Given the description of an element on the screen output the (x, y) to click on. 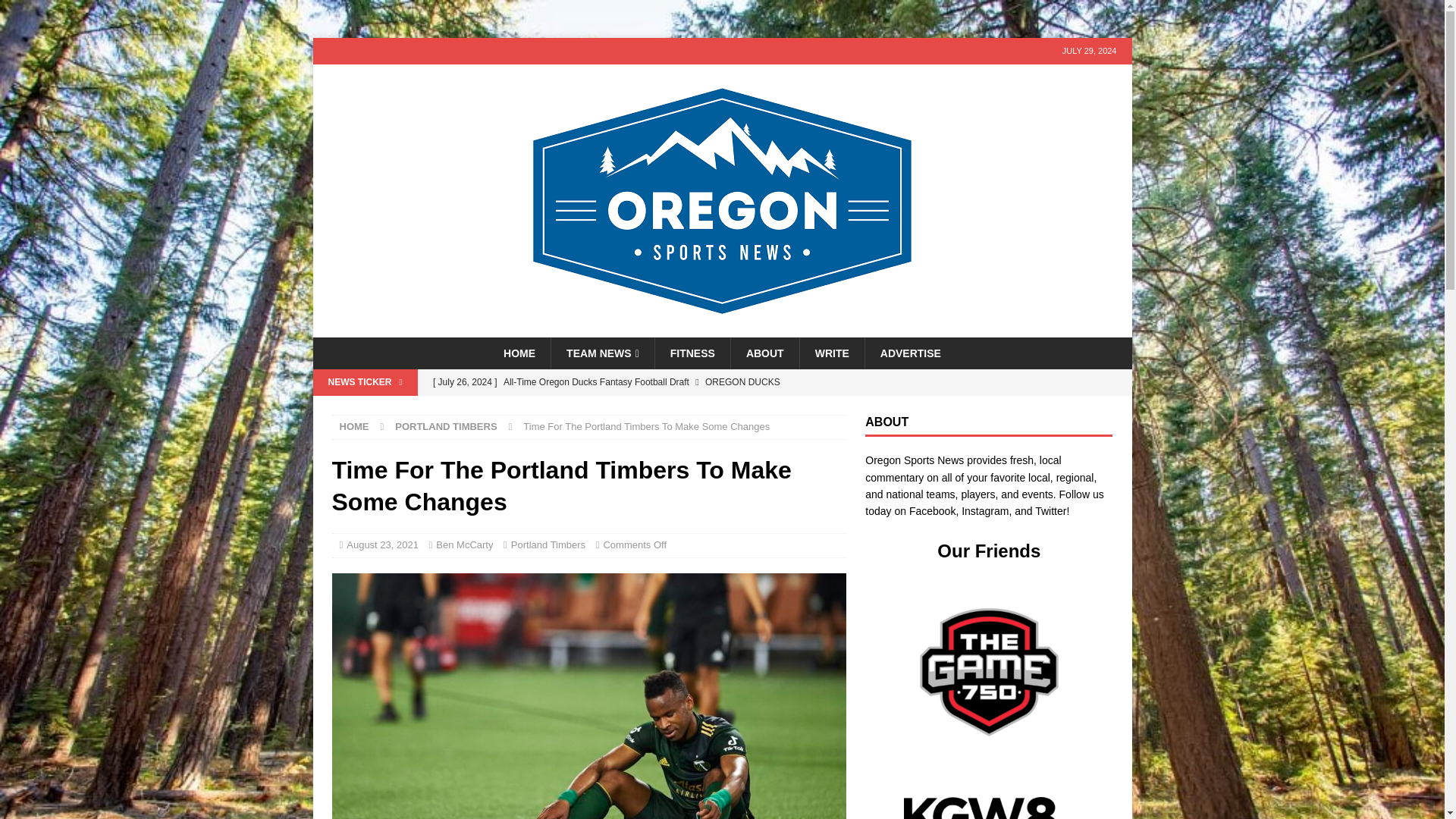
ADVERTISE (910, 353)
WRITE (831, 353)
All-Time Oregon Ducks Fantasy Football Draft (634, 381)
Oregon Sports News (721, 328)
Timbers (588, 696)
HOME (354, 426)
HOME (518, 353)
TEAM NEWS (601, 353)
ABOUT (764, 353)
FITNESS (691, 353)
PORTLAND TIMBERS (445, 426)
